Given the description of an element on the screen output the (x, y) to click on. 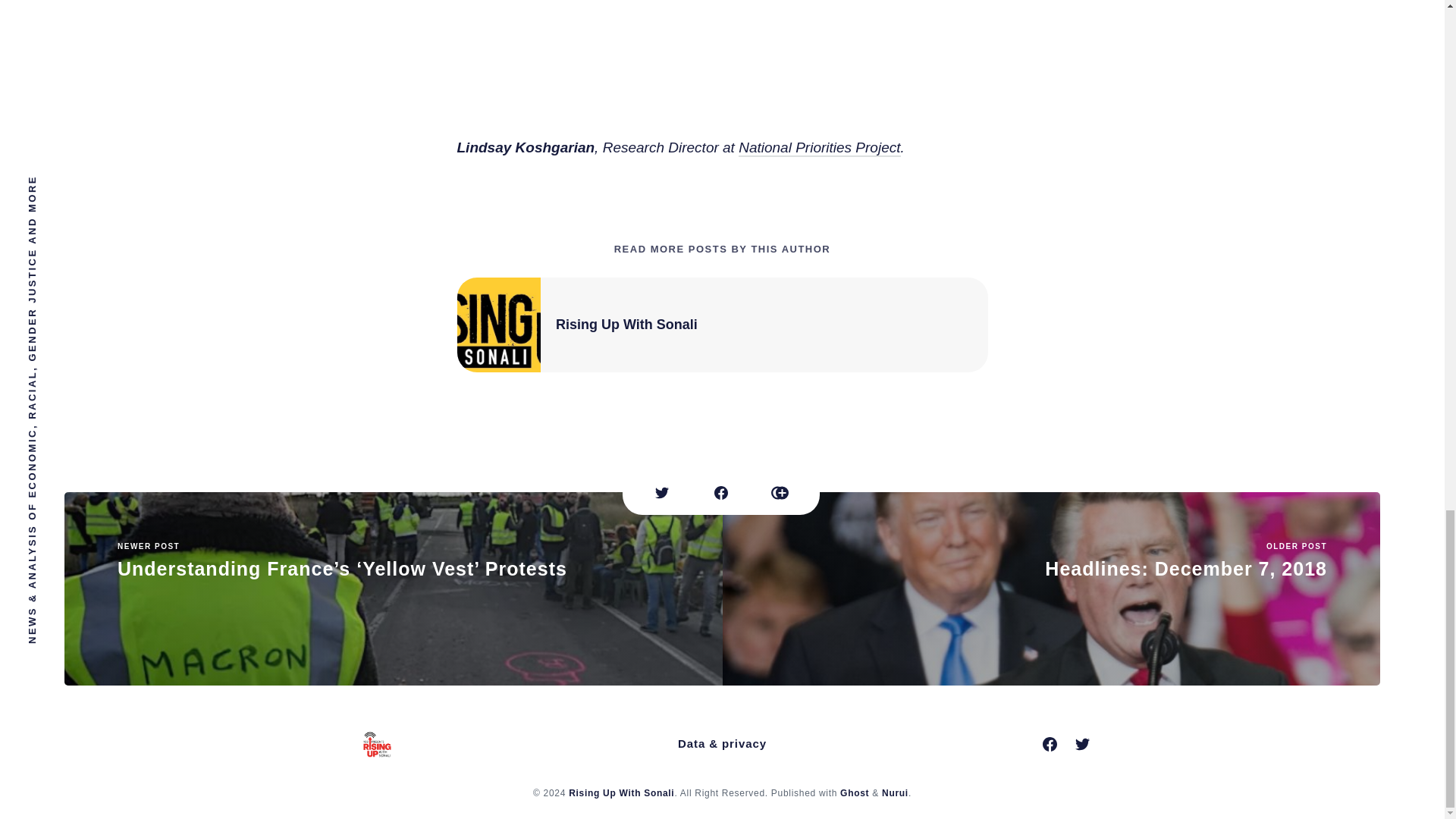
Nurui (895, 792)
Ghost (854, 792)
Rising Up With Sonali (1051, 588)
Rising Up With Sonali (625, 324)
National Priorities Project (621, 792)
